Given the description of an element on the screen output the (x, y) to click on. 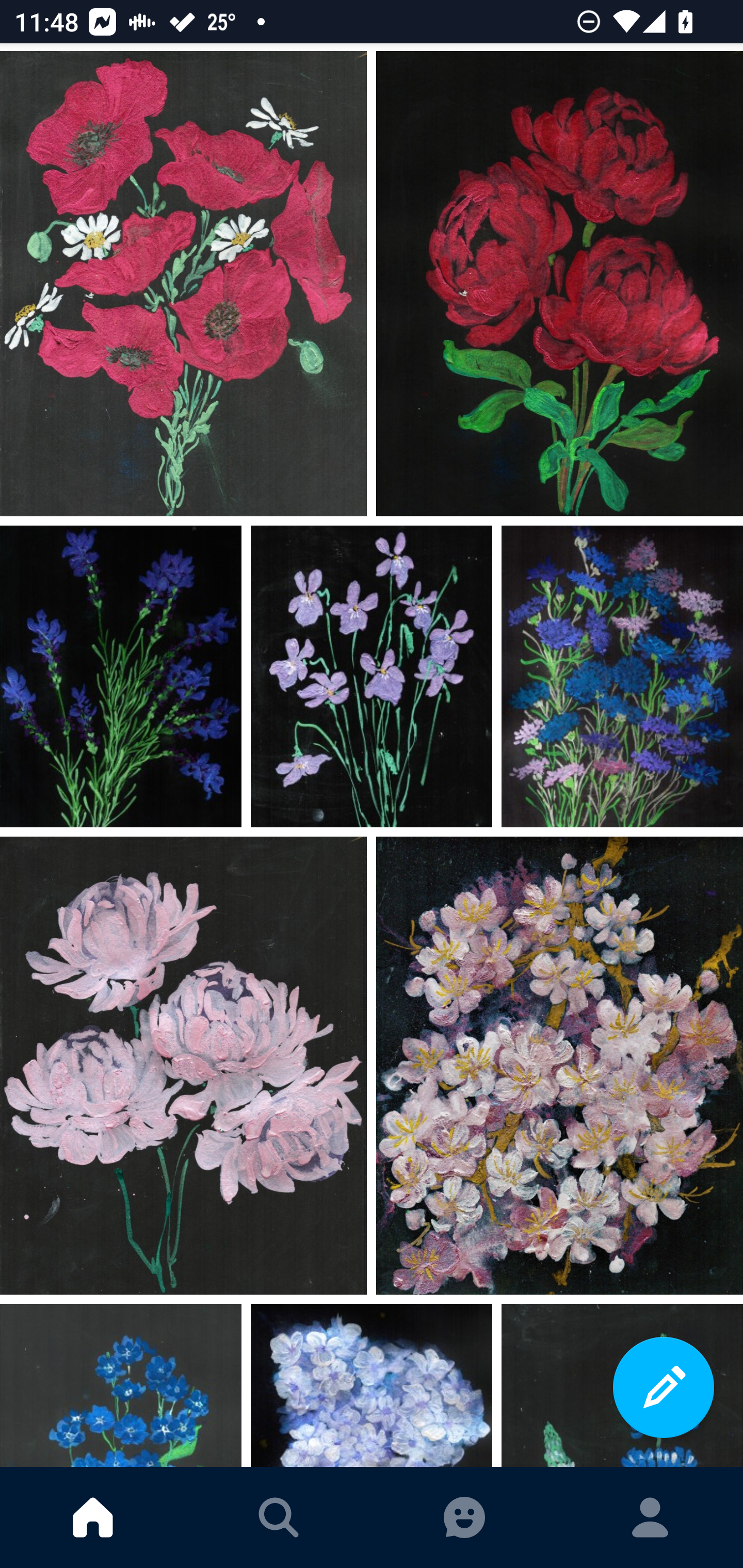
Compose a new post (663, 1387)
DASHBOARD (92, 1517)
EXPLORE (278, 1517)
MESSAGES (464, 1517)
ACCOUNT (650, 1517)
